Given the description of an element on the screen output the (x, y) to click on. 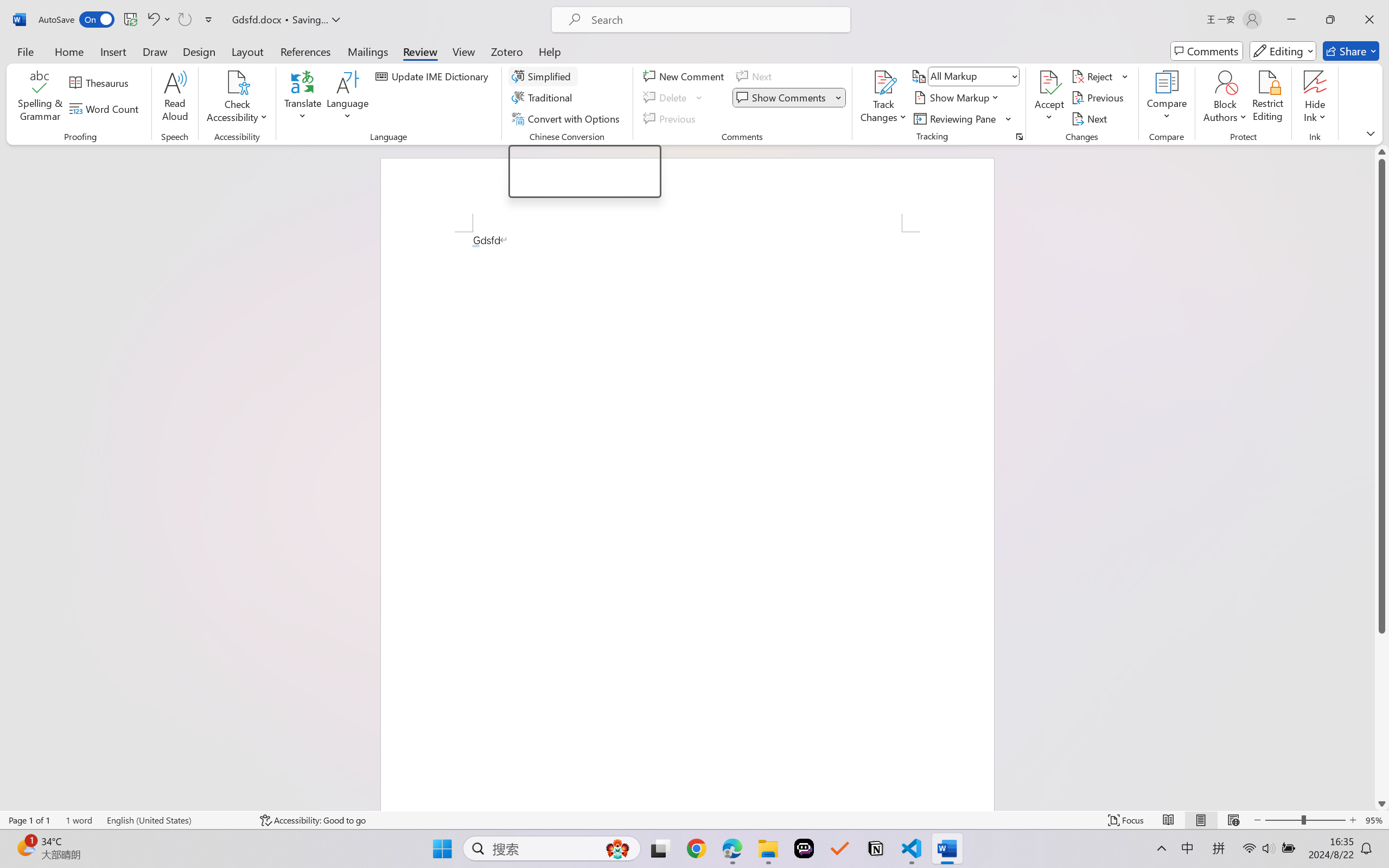
Undo AutoCorrect (158, 19)
Block Authors (1224, 97)
Hide Ink (1315, 81)
Restrict Editing (584, 170)
Accept (1267, 97)
Accept and Move to Next (1049, 97)
Show Comments (1049, 81)
